Given the description of an element on the screen output the (x, y) to click on. 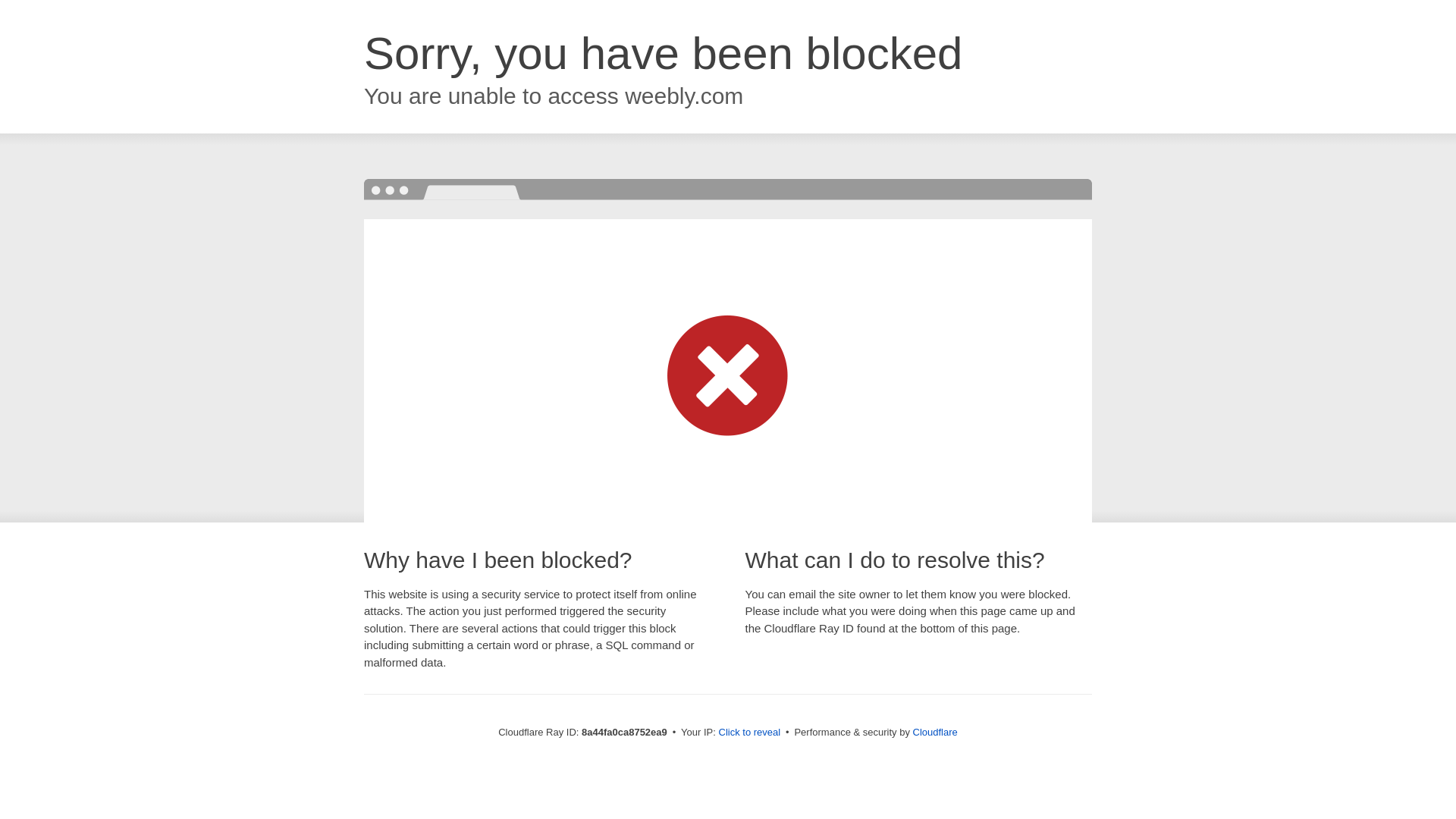
Cloudflare (935, 731)
Click to reveal (749, 732)
